Given the description of an element on the screen output the (x, y) to click on. 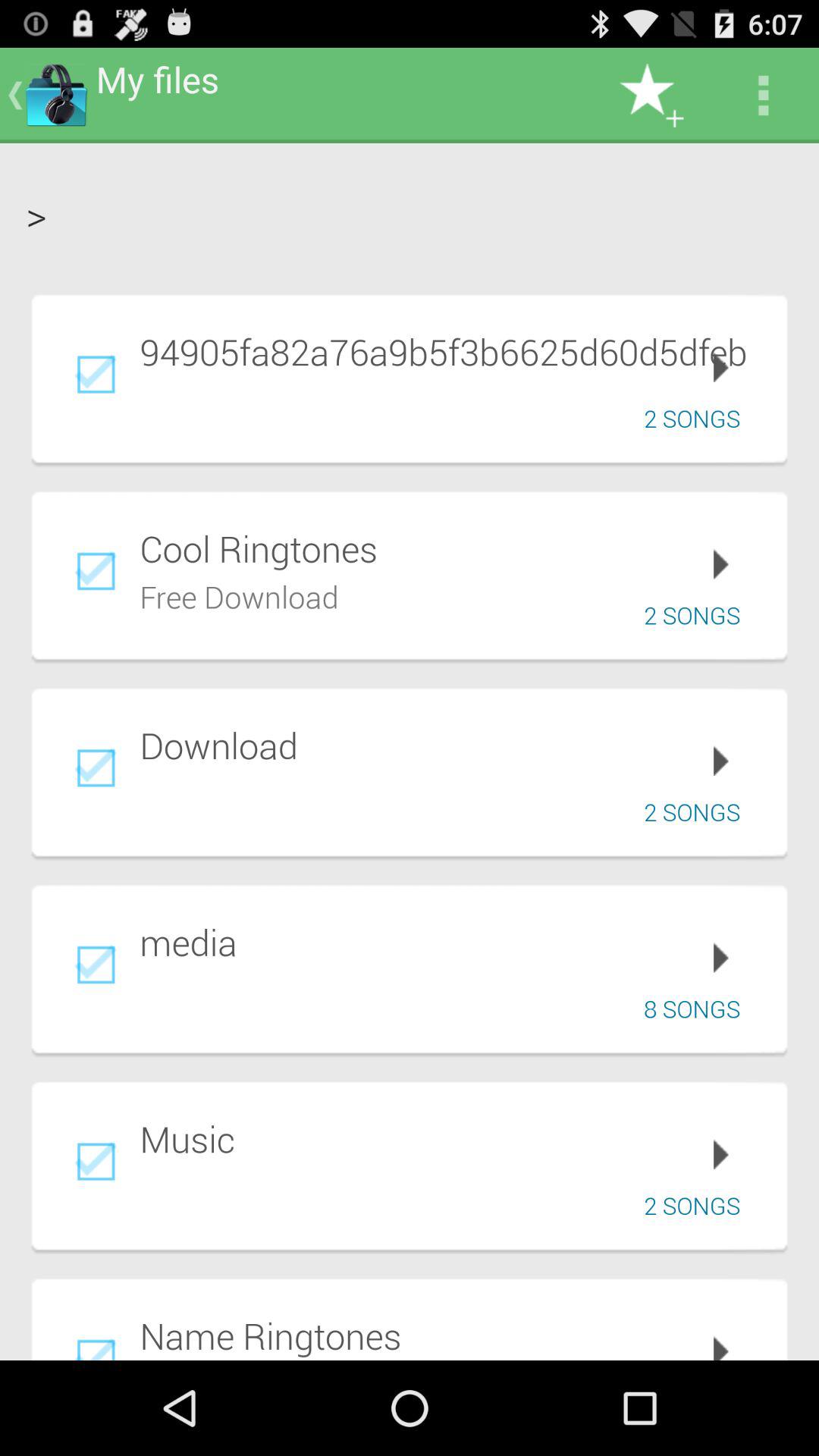
click the icon below the 2 songs item (452, 1335)
